Given the description of an element on the screen output the (x, y) to click on. 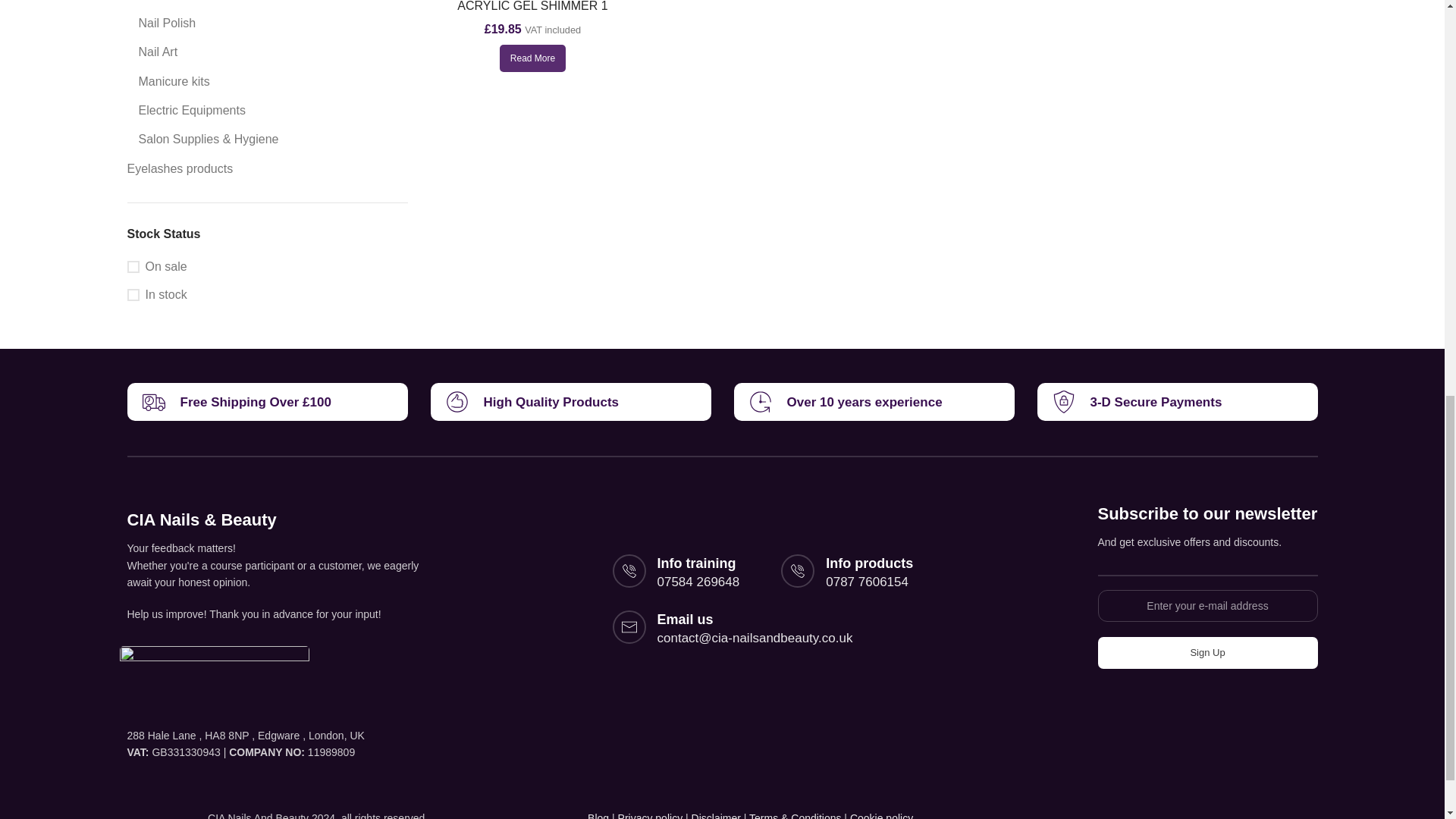
discla (881, 815)
Sign up (1207, 653)
discla (716, 815)
discla (795, 815)
